Given the description of an element on the screen output the (x, y) to click on. 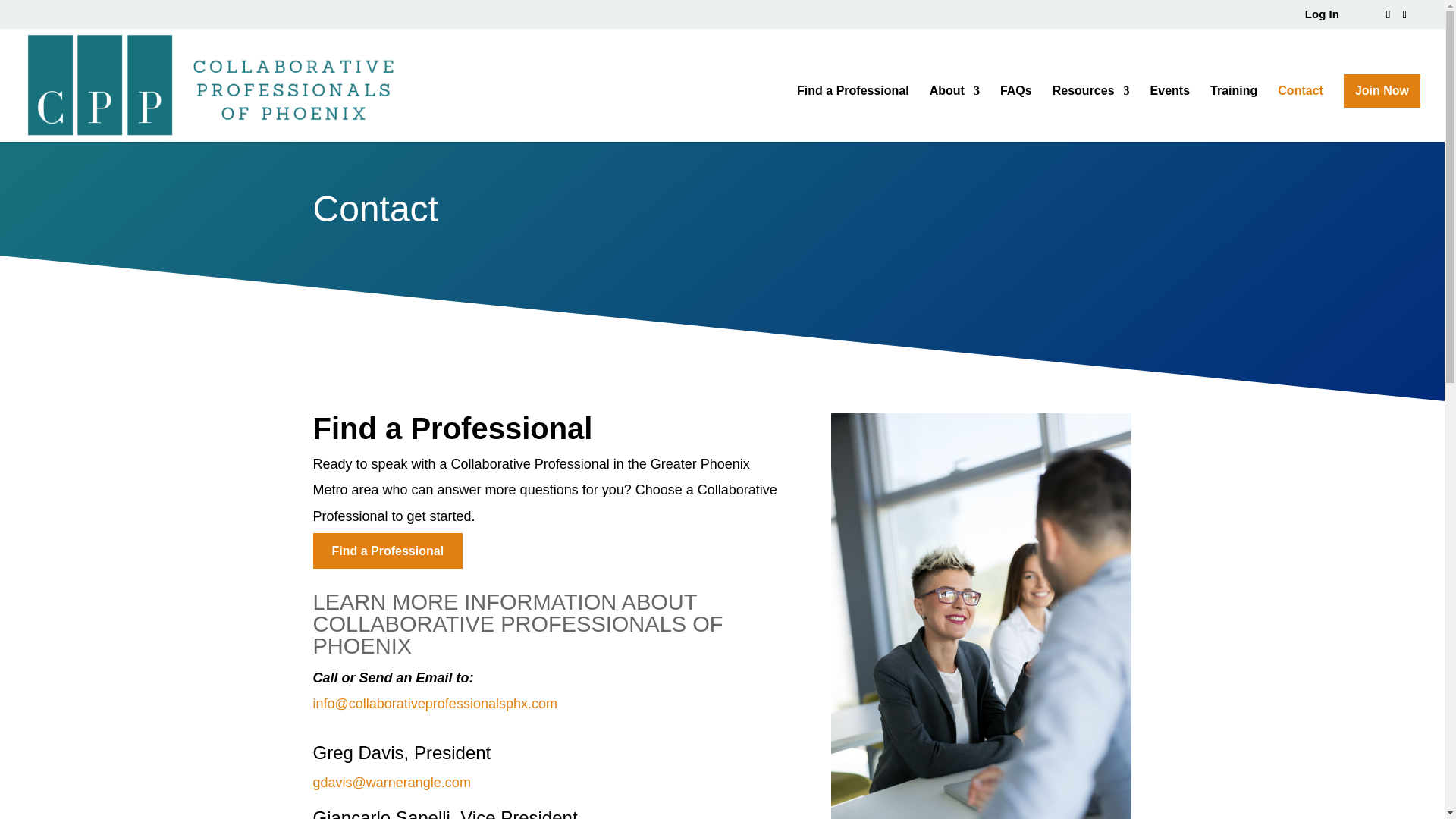
Find a Professional (852, 113)
Resources (1090, 113)
Join Now (1382, 90)
About (954, 113)
Find a Professional (388, 550)
Log In (1321, 17)
